Given the description of an element on the screen output the (x, y) to click on. 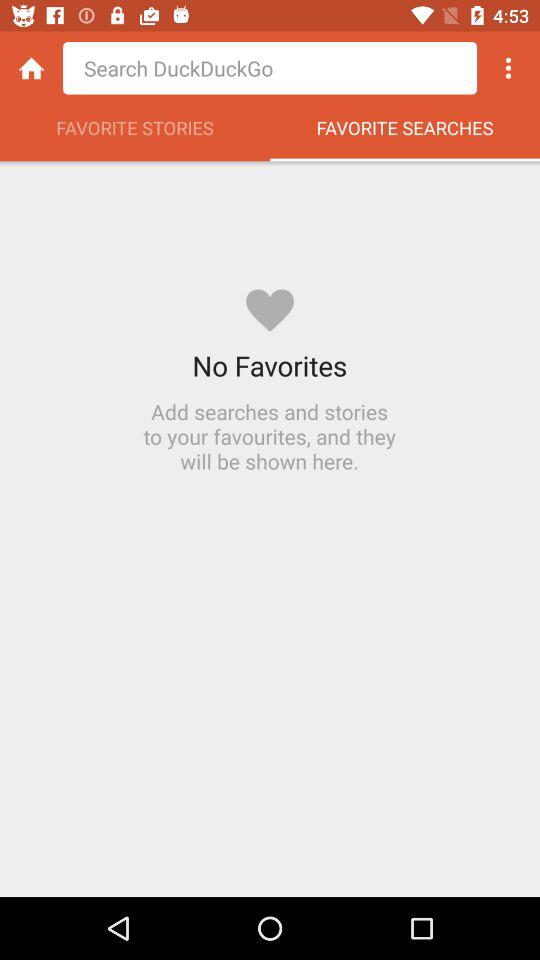
go to homepage (31, 68)
